Given the description of an element on the screen output the (x, y) to click on. 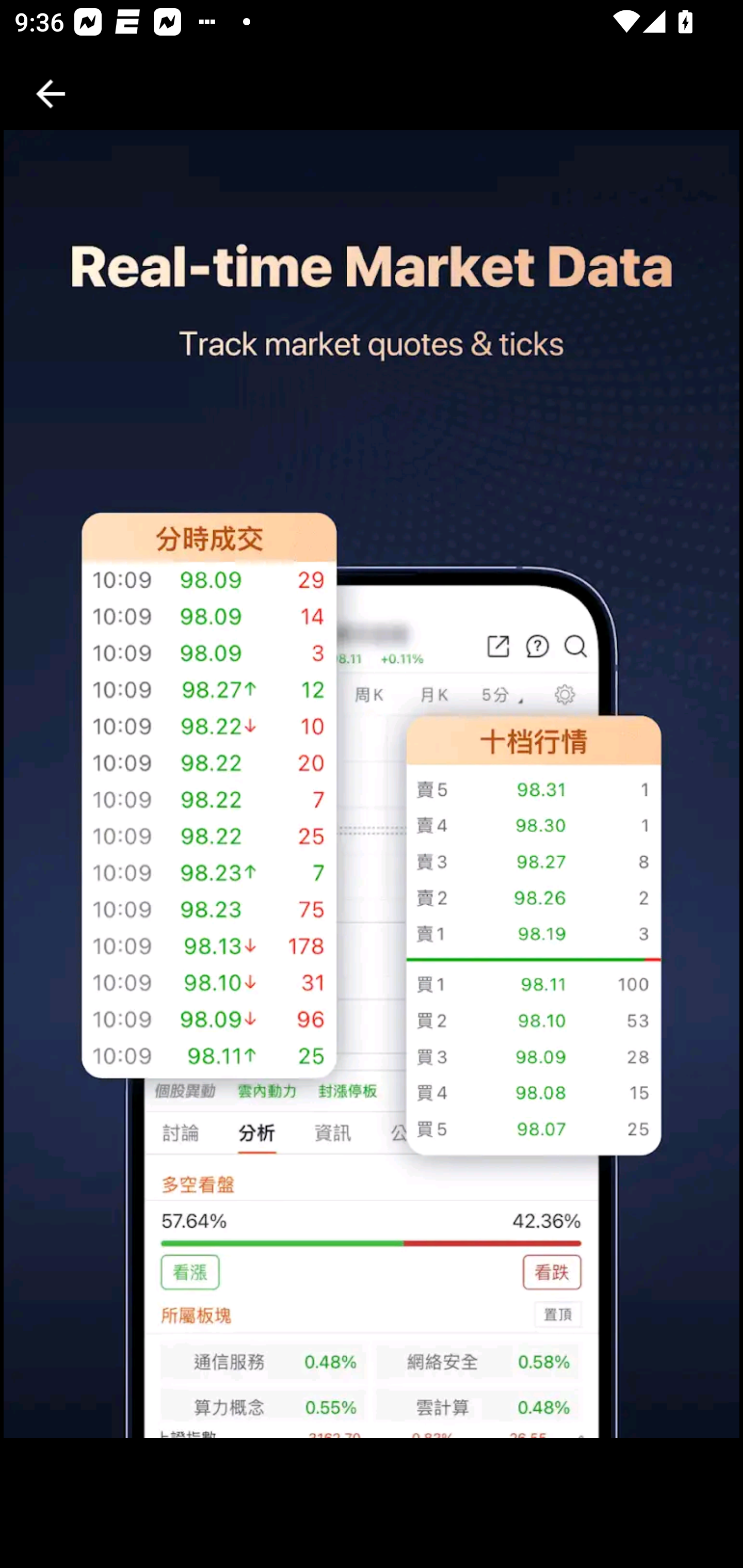
Back (50, 93)
